Given the description of an element on the screen output the (x, y) to click on. 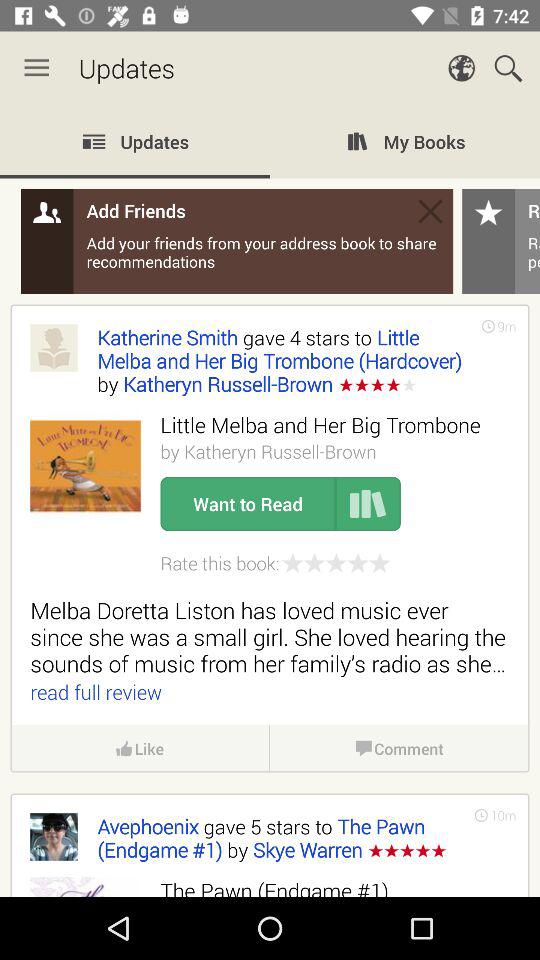
choose icon to the right of the like item (399, 748)
